Given the description of an element on the screen output the (x, y) to click on. 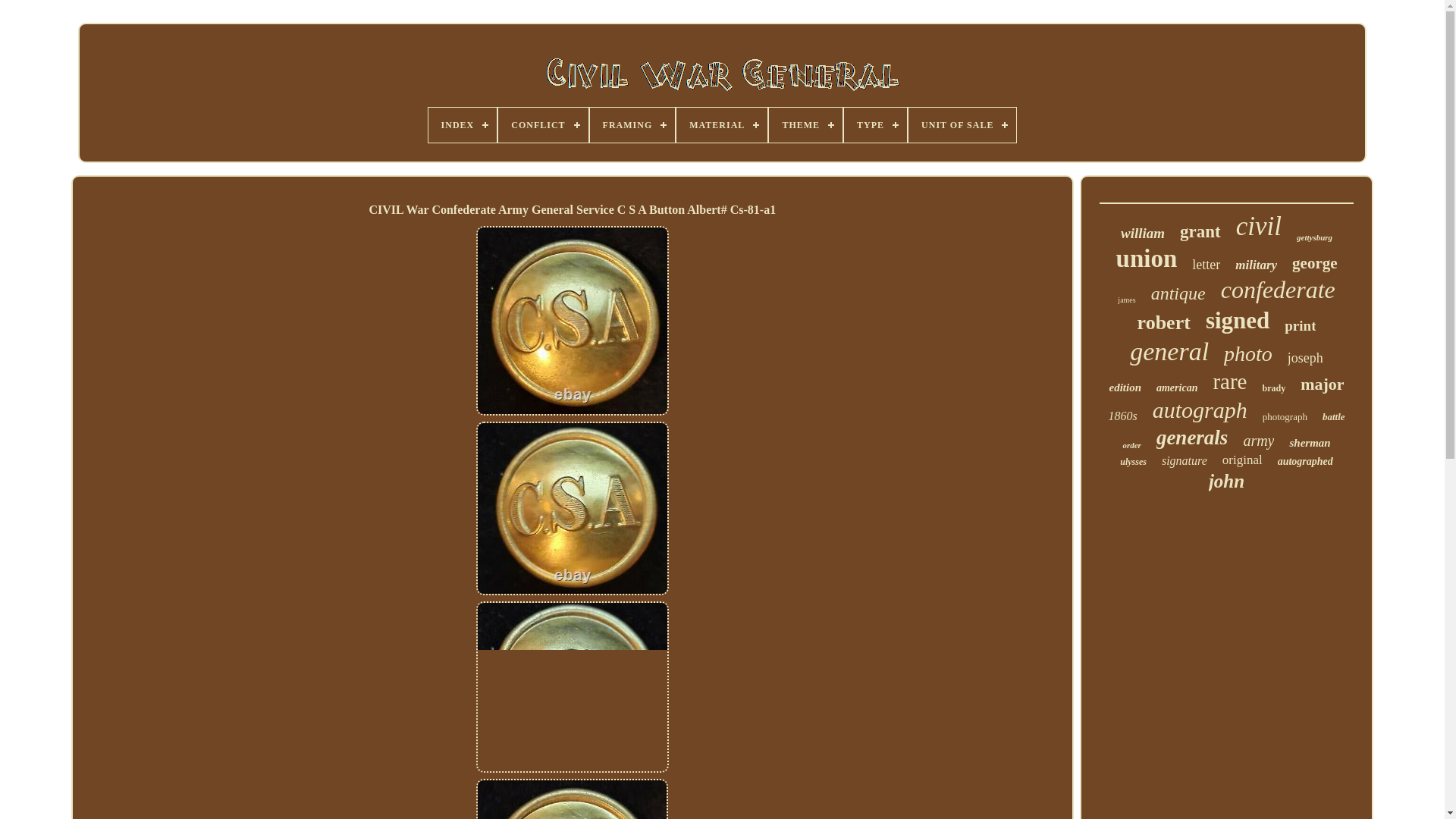
CONFLICT (542, 124)
INDEX (462, 124)
MATERIAL (722, 124)
FRAMING (632, 124)
